Given the description of an element on the screen output the (x, y) to click on. 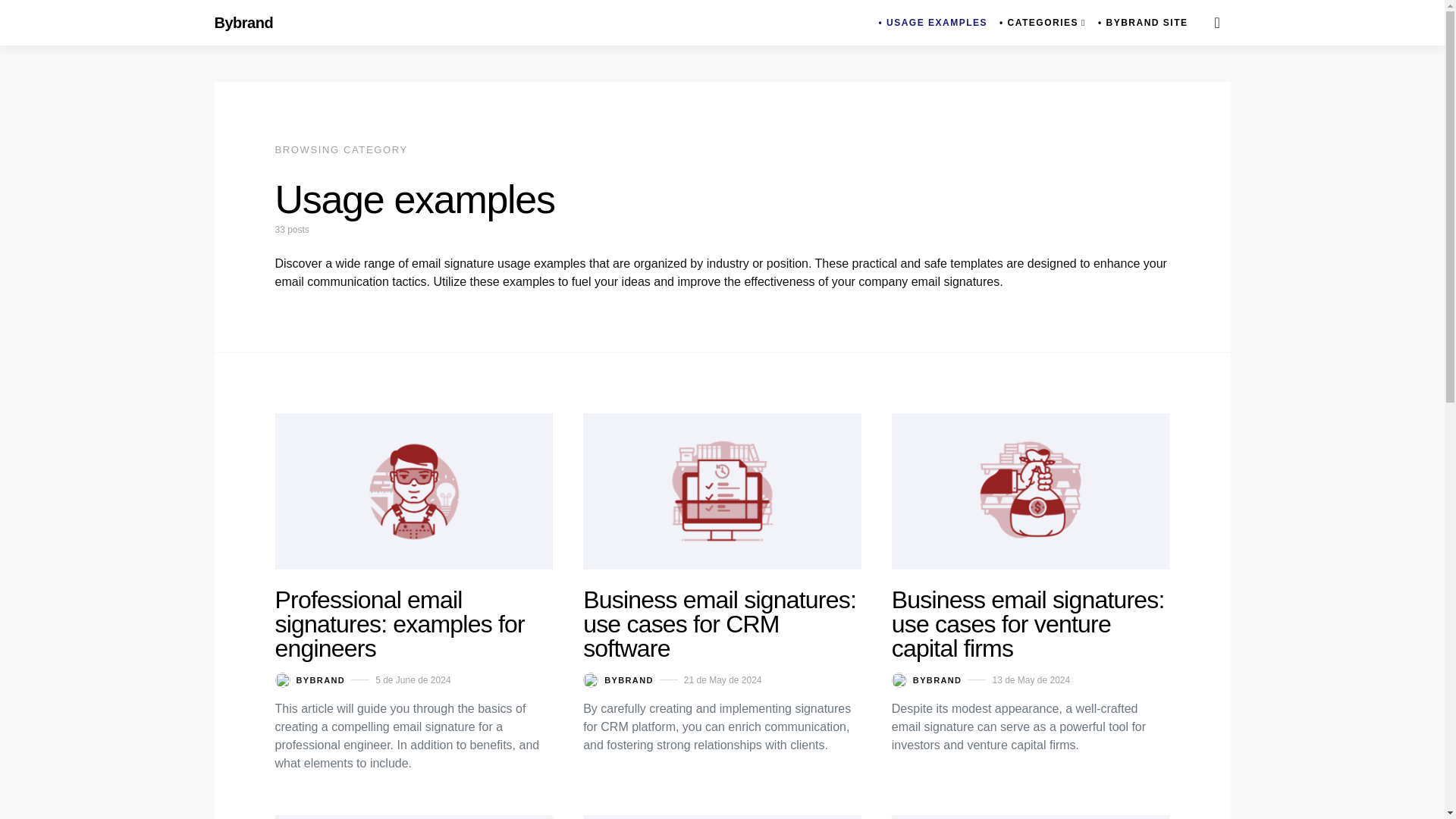
View all posts by Bybrand (926, 679)
BYBRAND (310, 679)
Business email signatures: use cases for CRM software (719, 623)
Professional email signatures: examples for engineers (399, 623)
BYBRAND (926, 679)
View all posts by Bybrand (310, 679)
Bybrand (243, 22)
View all posts by Bybrand (618, 679)
BYBRAND (618, 679)
